Given the description of an element on the screen output the (x, y) to click on. 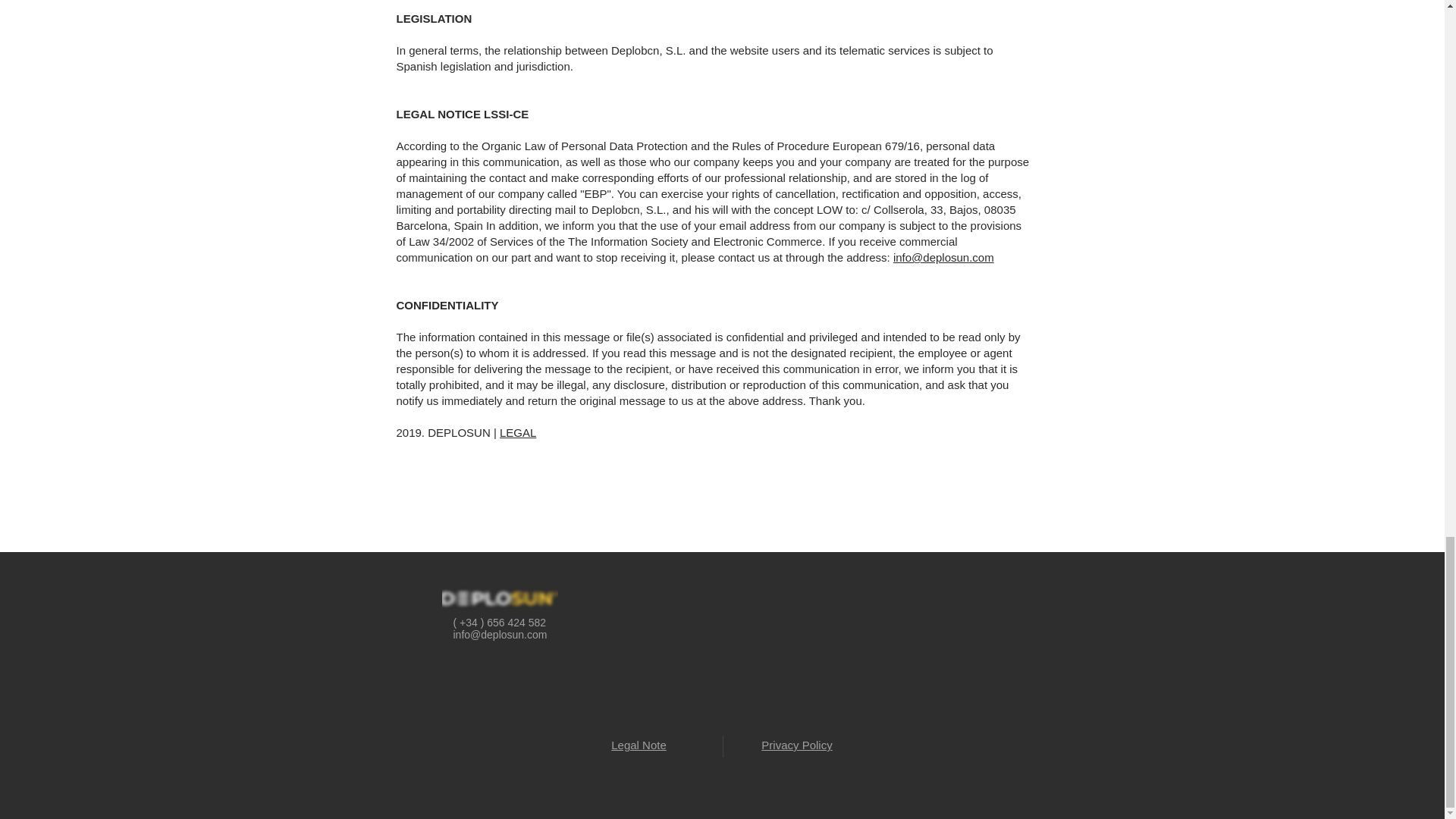
Legal Note (638, 744)
LEGAL (517, 431)
Privacy Policy (796, 744)
